Given the description of an element on the screen output the (x, y) to click on. 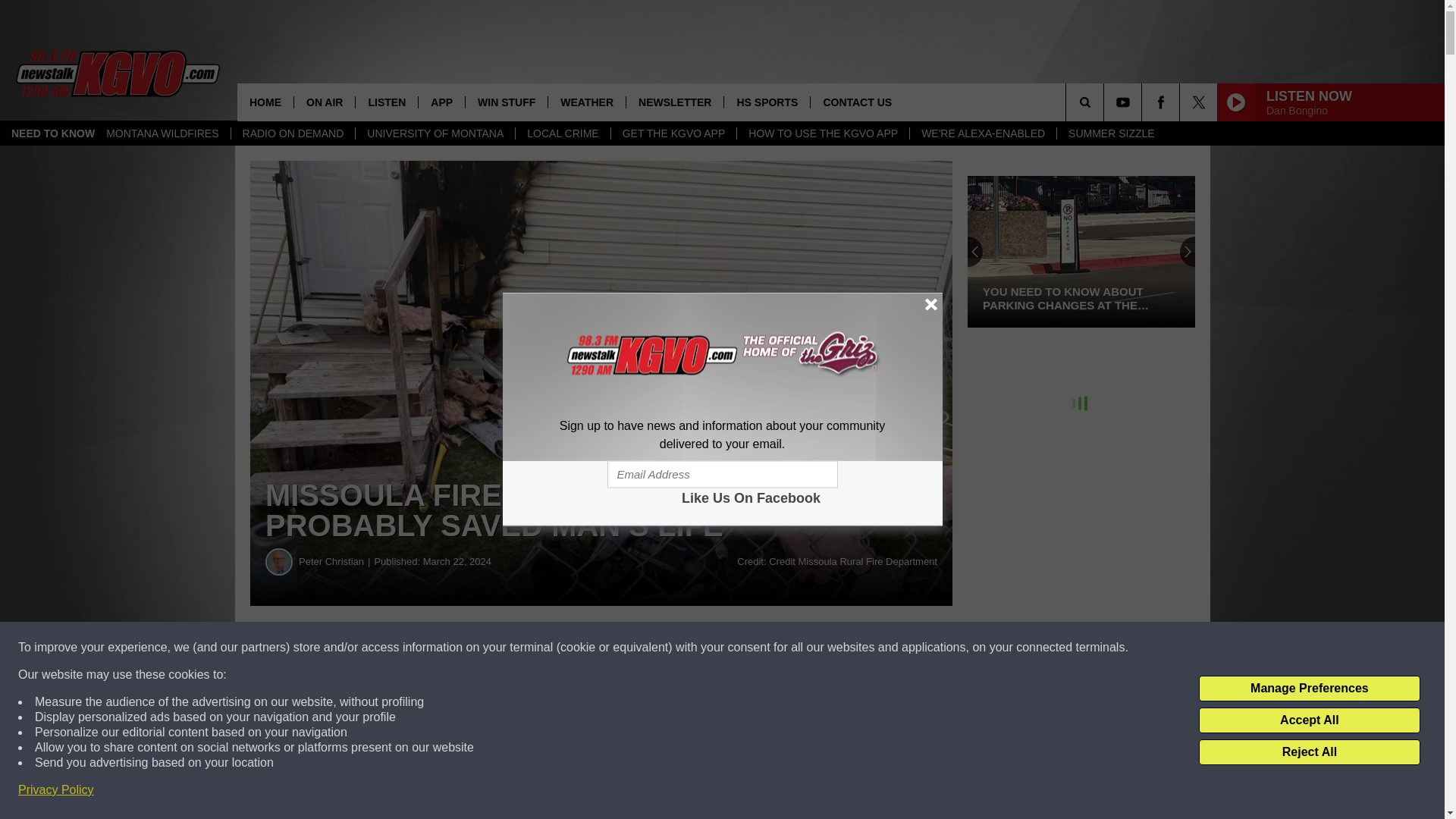
Manage Preferences (1309, 688)
UNIVERSITY OF MONTANA (435, 133)
LOCAL CRIME (562, 133)
HOW TO USE THE KGVO APP (822, 133)
Accept All (1309, 720)
APP (440, 102)
GET THE KGVO APP (673, 133)
SUMMER SIZZLE (1111, 133)
ON AIR (324, 102)
SEARCH (1106, 102)
WIN STUFF (505, 102)
Share on Twitter (741, 647)
SEARCH (1106, 102)
Privacy Policy (55, 789)
Email Address (722, 474)
